Given the description of an element on the screen output the (x, y) to click on. 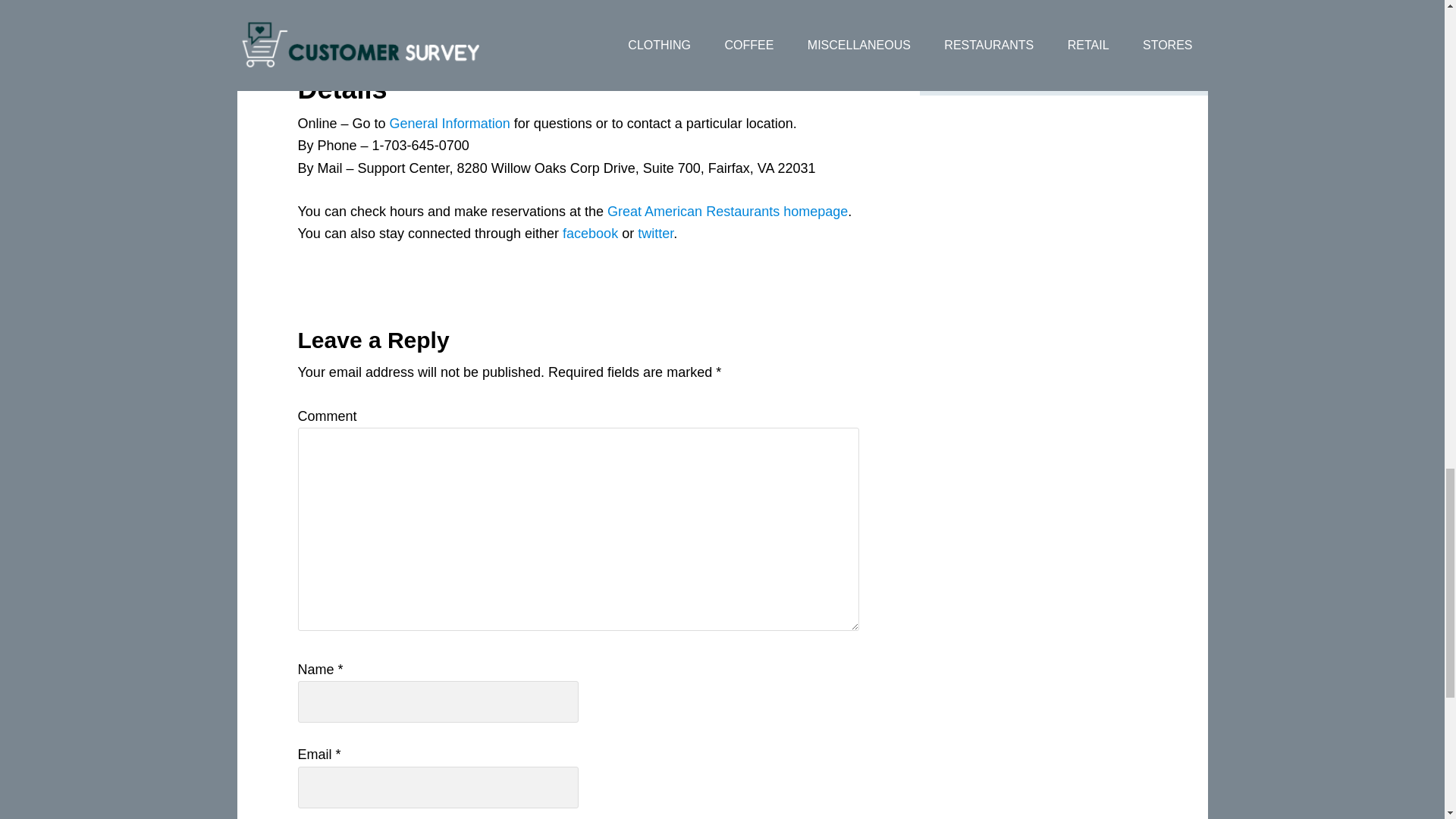
General Information (450, 123)
twitter (654, 233)
facebook (589, 233)
Great American Restaurants homepage (727, 211)
feedback form (400, 7)
